Given the description of an element on the screen output the (x, y) to click on. 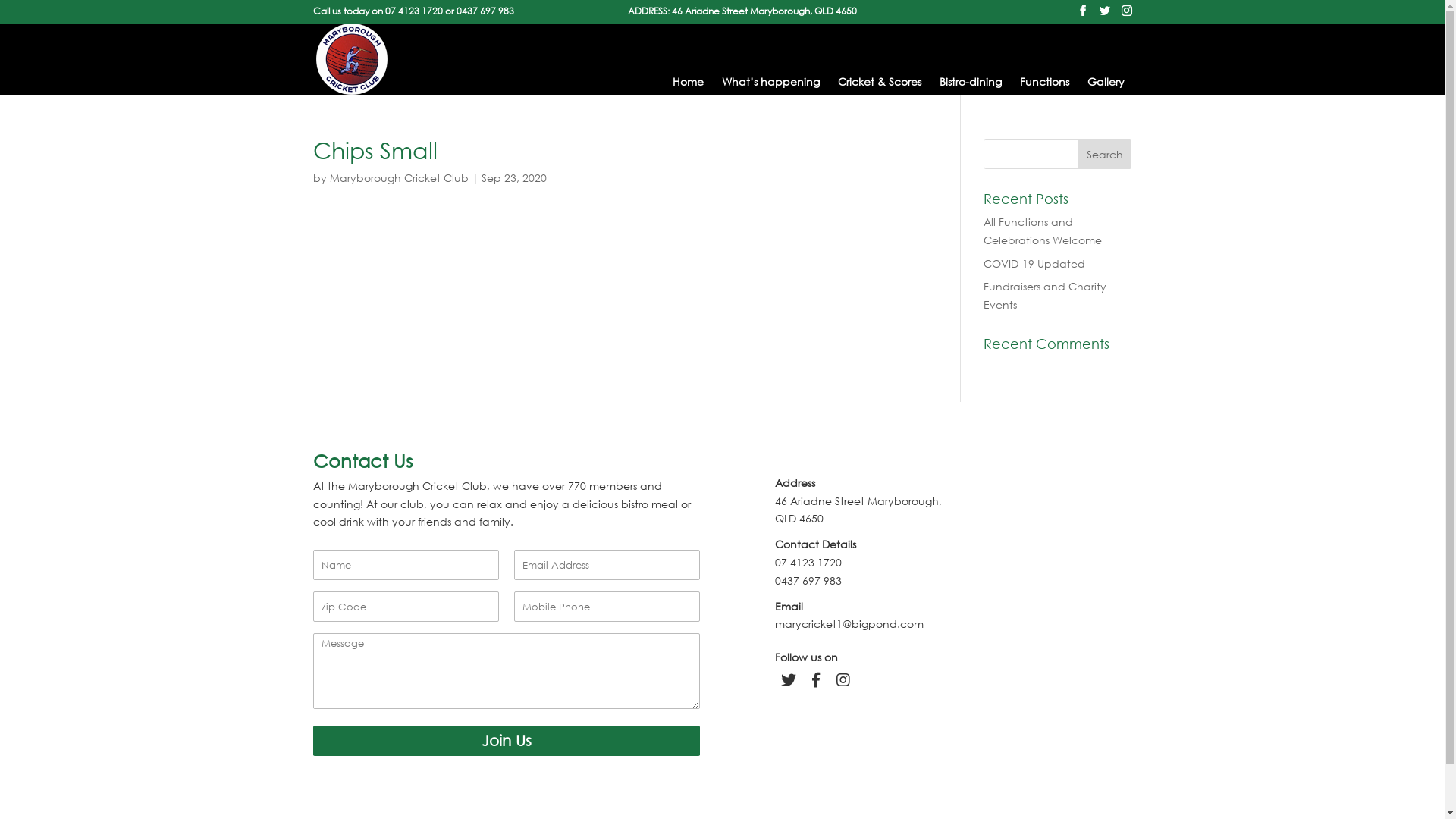
07 4123 1720 Element type: text (808, 562)
Cricket & Scores Element type: text (878, 81)
Bistro-dining Element type: text (969, 81)
All Functions and Celebrations Welcome Element type: text (1042, 230)
Twitter Element type: hover (788, 679)
07 4123 1720 Element type: text (413, 10)
Fundraisers and Charity Events Element type: text (1044, 295)
46 Ariadne Street Maryborough,
QLD 4650 Element type: text (858, 509)
Facebook Element type: hover (815, 679)
Gallery Element type: text (1105, 81)
COVID-19 Updated Element type: text (1034, 263)
Join Us Element type: text (505, 740)
Instagram Element type: hover (843, 679)
Search Element type: text (1104, 153)
Functions Element type: text (1043, 81)
Instagram Element type: hover (842, 679)
0437 697 983 Element type: text (485, 10)
ADDRESS: 46 Ariadne Street Maryborough, QLD 4650 Element type: text (741, 10)
0437 697 983 Element type: text (808, 580)
Twitter Element type: hover (788, 679)
Maryborough Cricket Club Element type: text (398, 177)
marycricket1@bigpond.com Element type: text (849, 623)
Home Element type: text (687, 81)
Facebook Element type: hover (815, 679)
